Given the description of an element on the screen output the (x, y) to click on. 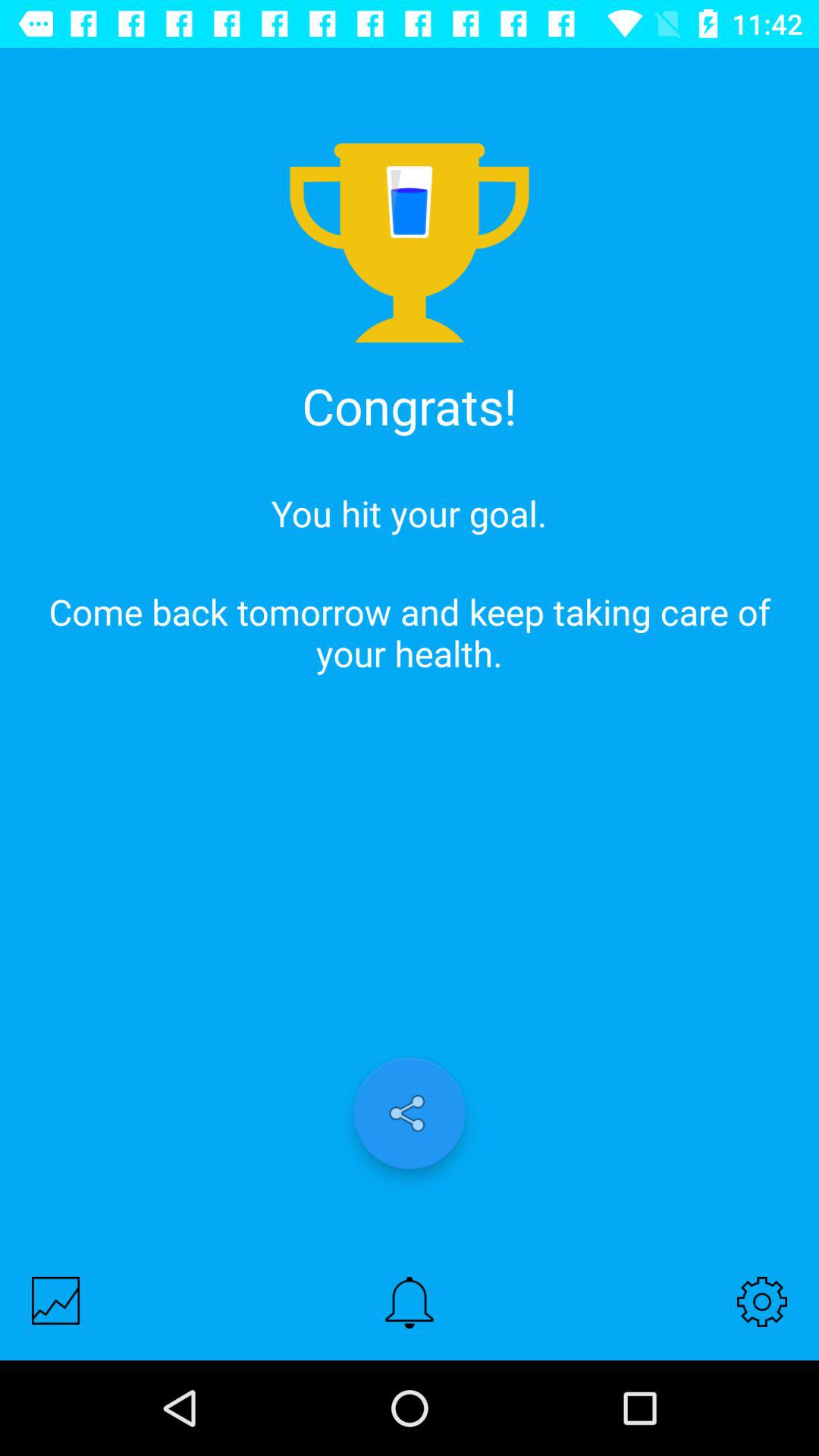
launch the icon below the come back tomorrow icon (55, 1300)
